Given the description of an element on the screen output the (x, y) to click on. 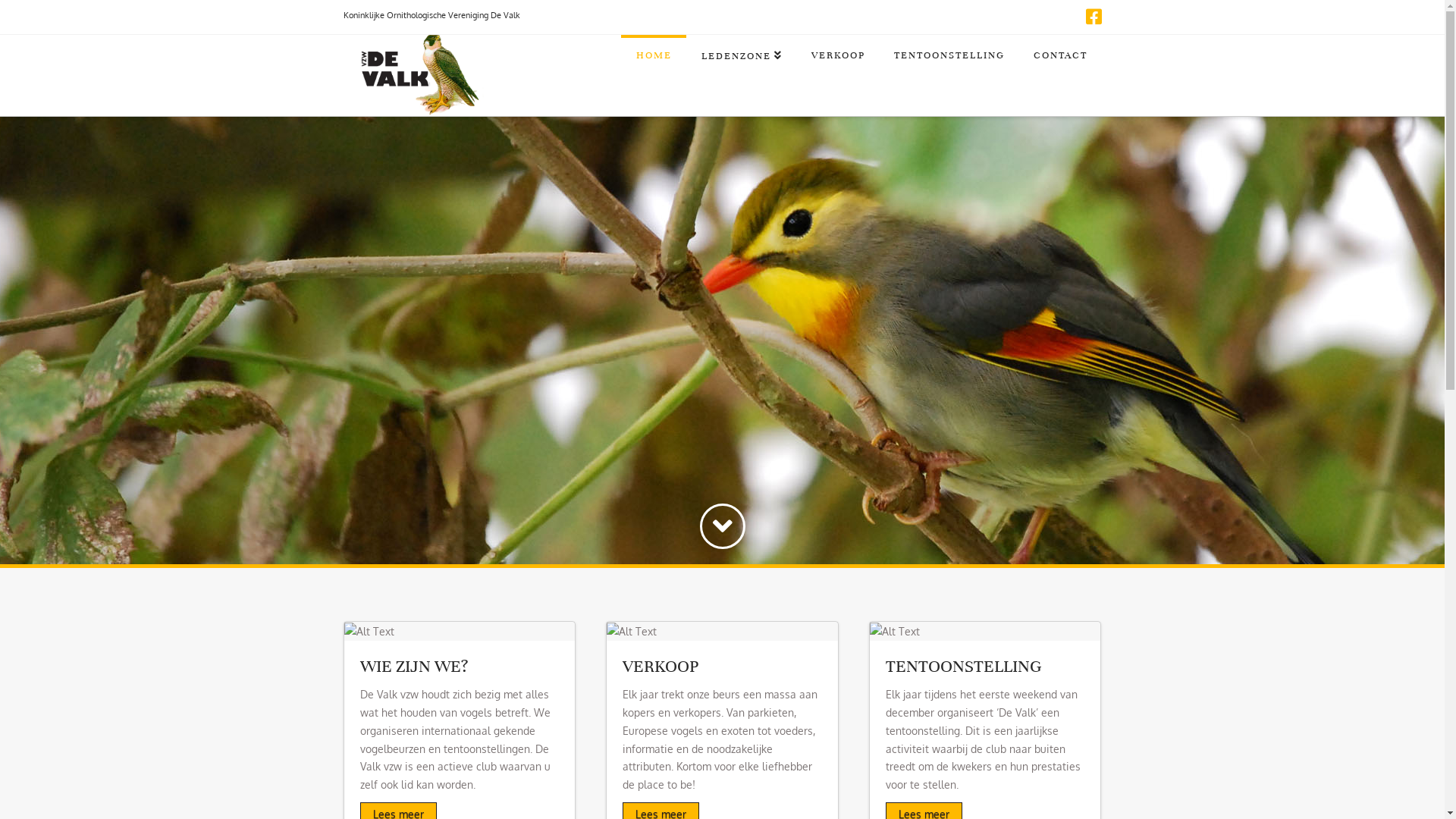
TENTOONSTELLING Element type: text (948, 71)
CONTACT Element type: text (1059, 71)
HOME Element type: text (653, 71)
LEDENZONE Element type: text (740, 71)
VERKOOP Element type: text (837, 71)
Facebook Element type: hover (1093, 16)
